Given the description of an element on the screen output the (x, y) to click on. 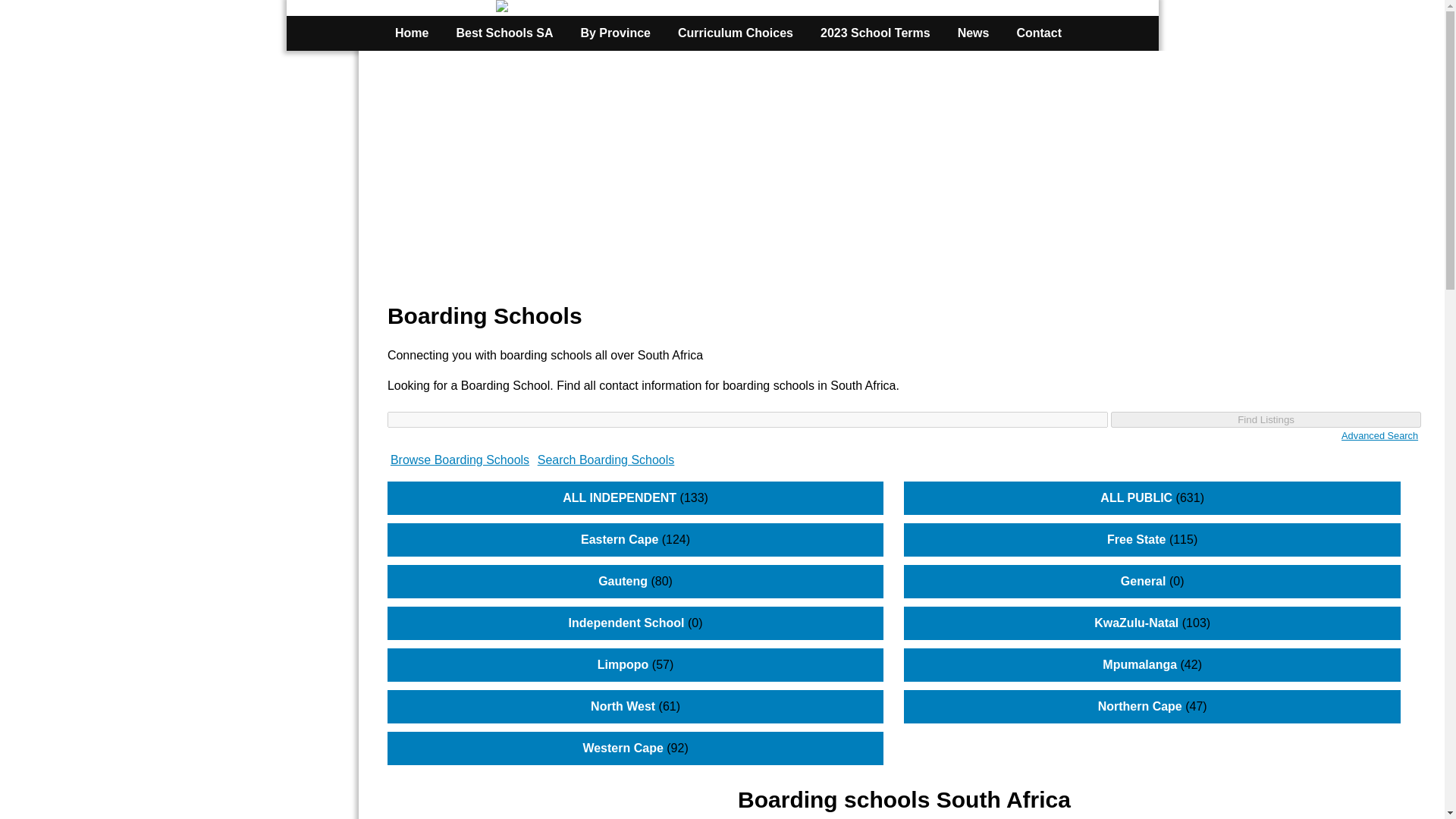
Gauteng (622, 581)
Contact (1039, 32)
Curriculum Choices (734, 32)
2023 School Terms (874, 32)
By Province (614, 32)
ALL INDEPENDENT (619, 497)
Free State (1136, 539)
Advanced Search (1379, 435)
Northern Cape (1139, 706)
Best Schools SA (504, 32)
